Given the description of an element on the screen output the (x, y) to click on. 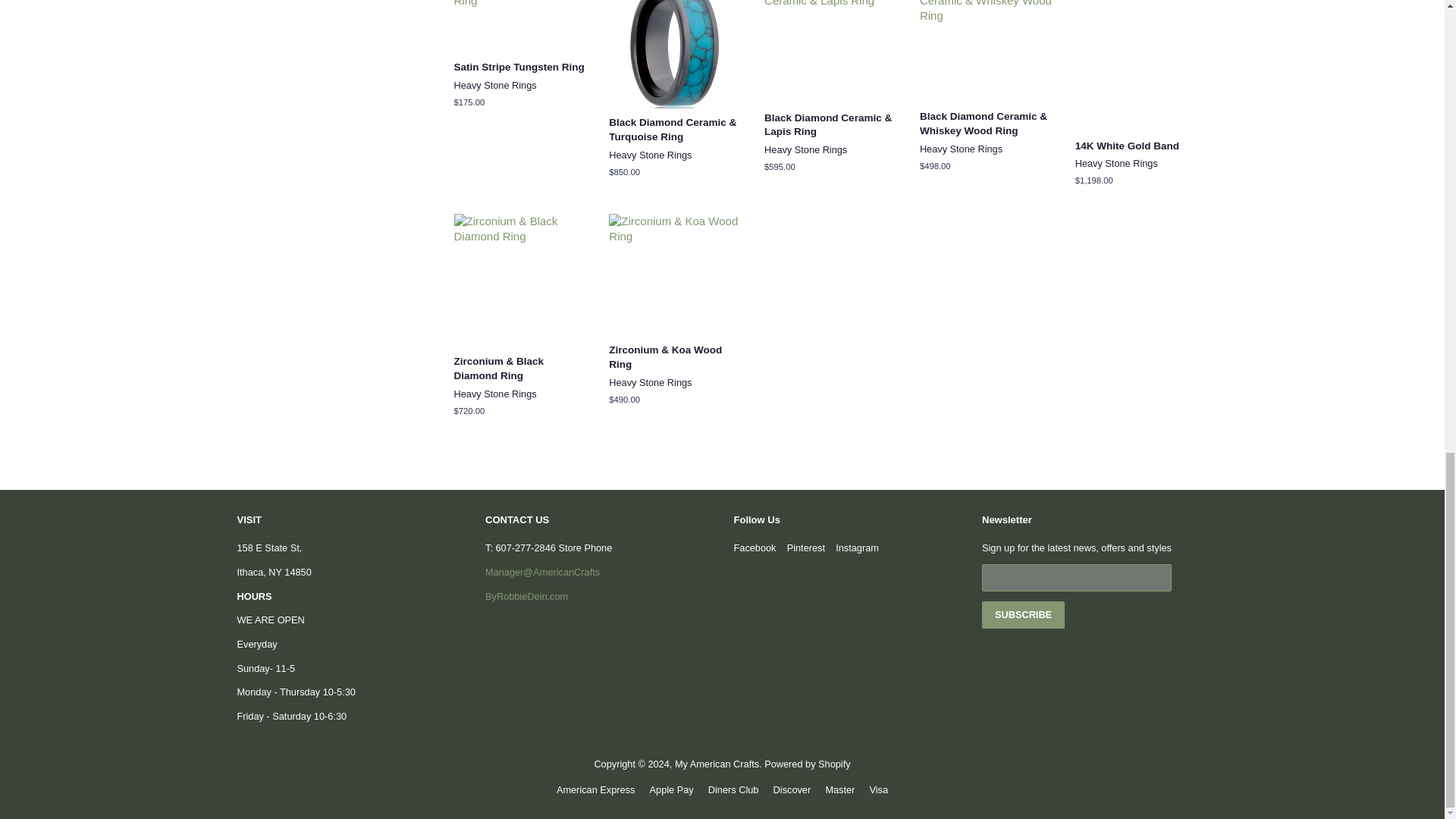
My American Crafts on Instagram (857, 547)
My American Crafts on Pinterest (806, 547)
Subscribe (1022, 614)
My American Crafts on Facebook (754, 547)
